Given the description of an element on the screen output the (x, y) to click on. 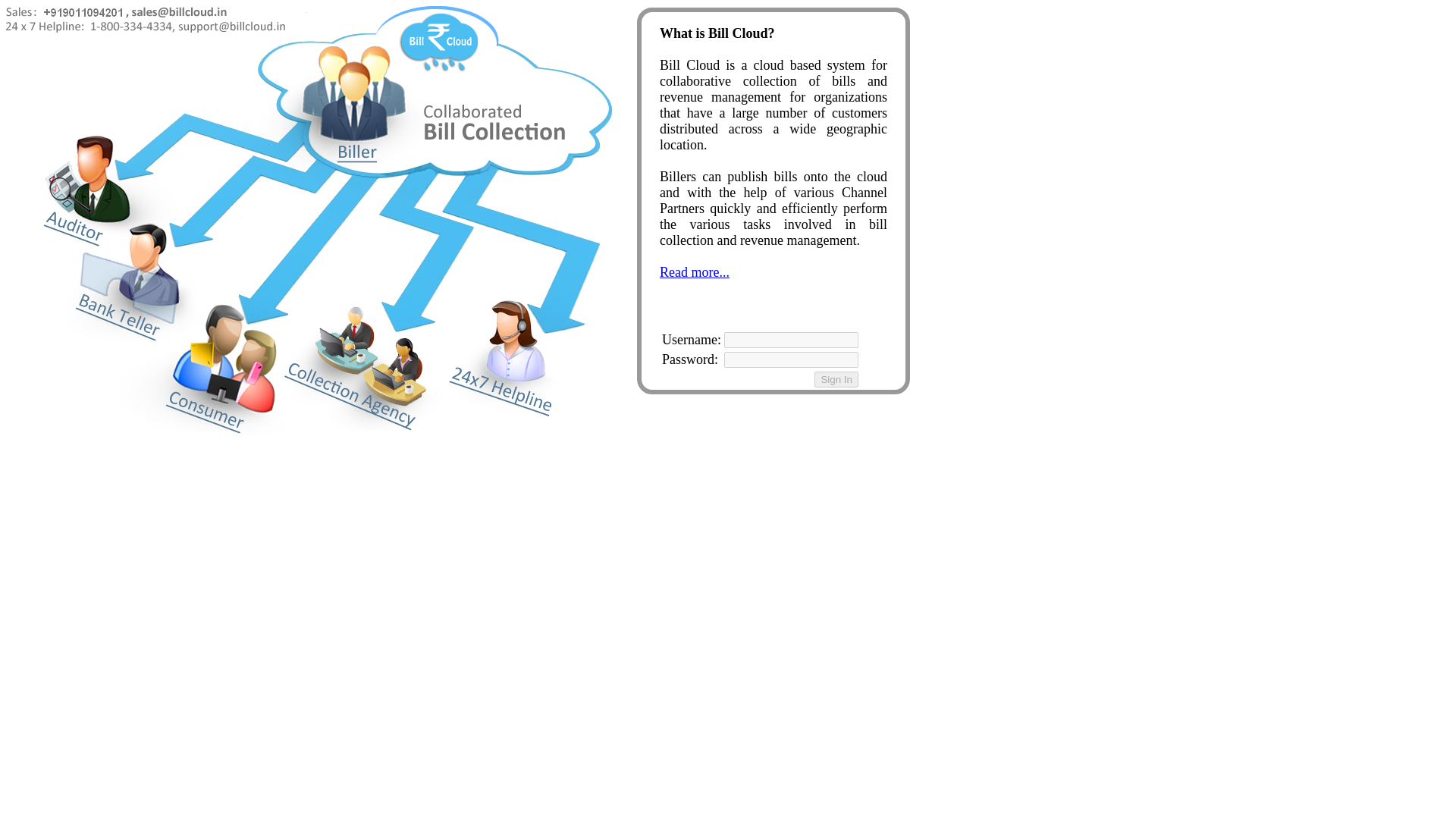
Read more... (694, 272)
Sign In (836, 379)
Sign In (836, 379)
